Given the description of an element on the screen output the (x, y) to click on. 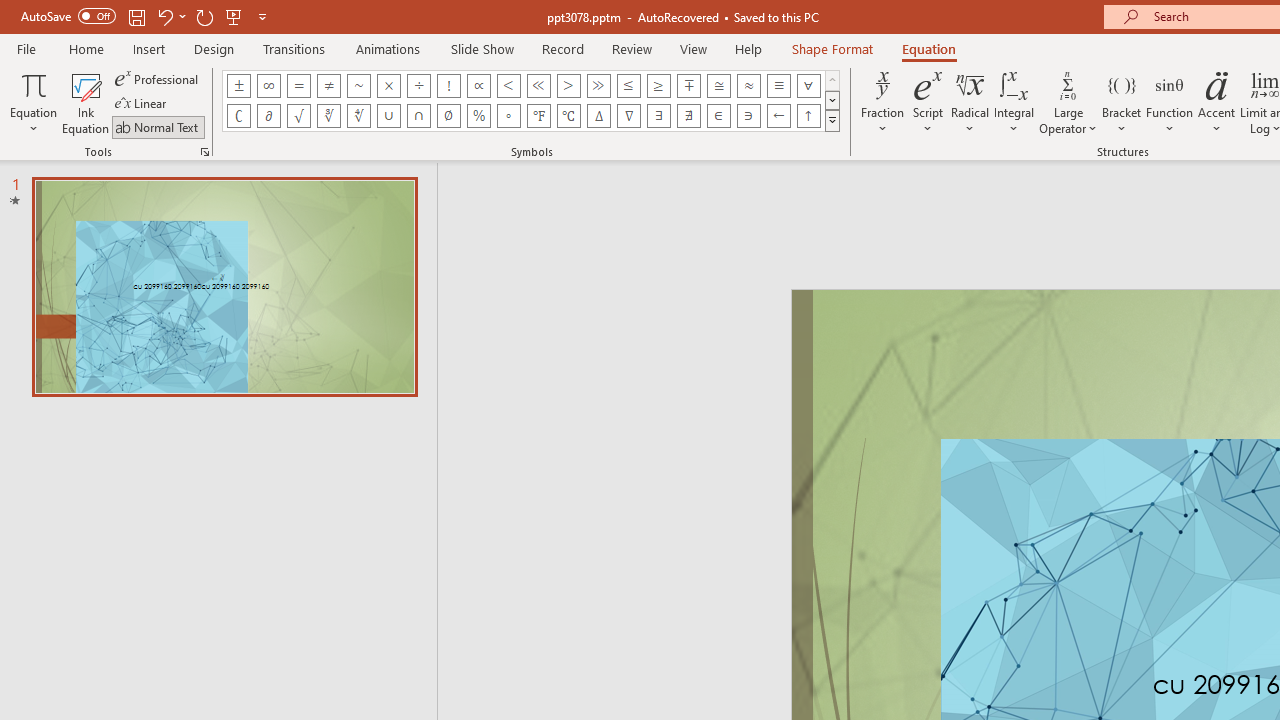
Integral (1014, 102)
Equation Symbol Empty Set (448, 115)
Equation Symbol Partial Differential (268, 115)
Equation (928, 48)
Large Operator (1067, 102)
AutomationID: EquationSymbolsInsertGallery (532, 100)
Equation Symbol Fourth Root (358, 115)
Equation Symbol Less Than (508, 85)
Equation Symbol Complement (238, 115)
Equation Symbol Infinity (268, 85)
